Given the description of an element on the screen output the (x, y) to click on. 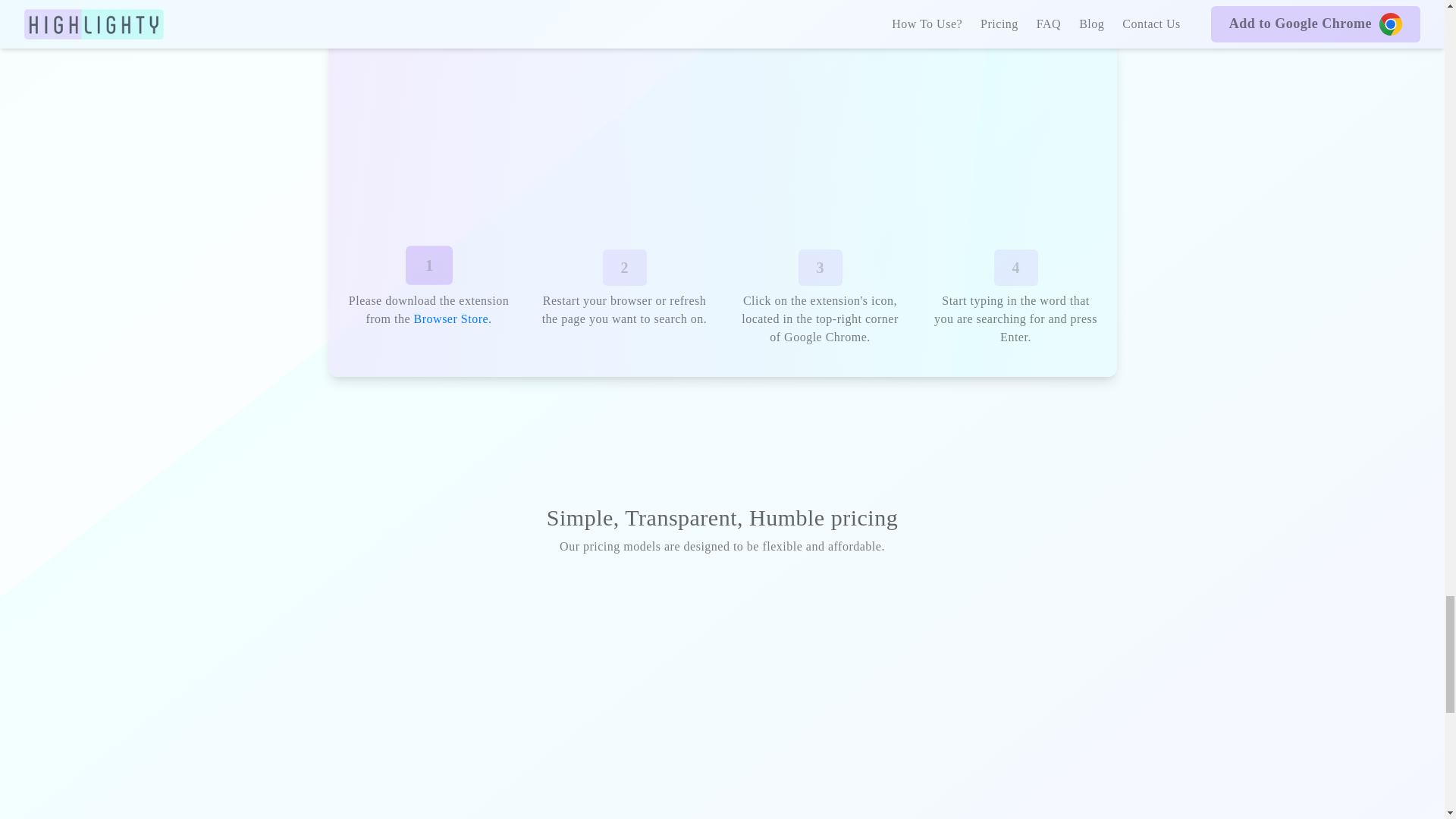
4 (1014, 267)
2 (624, 267)
Browser Store. (452, 318)
1 (426, 264)
3 (819, 267)
